Given the description of an element on the screen output the (x, y) to click on. 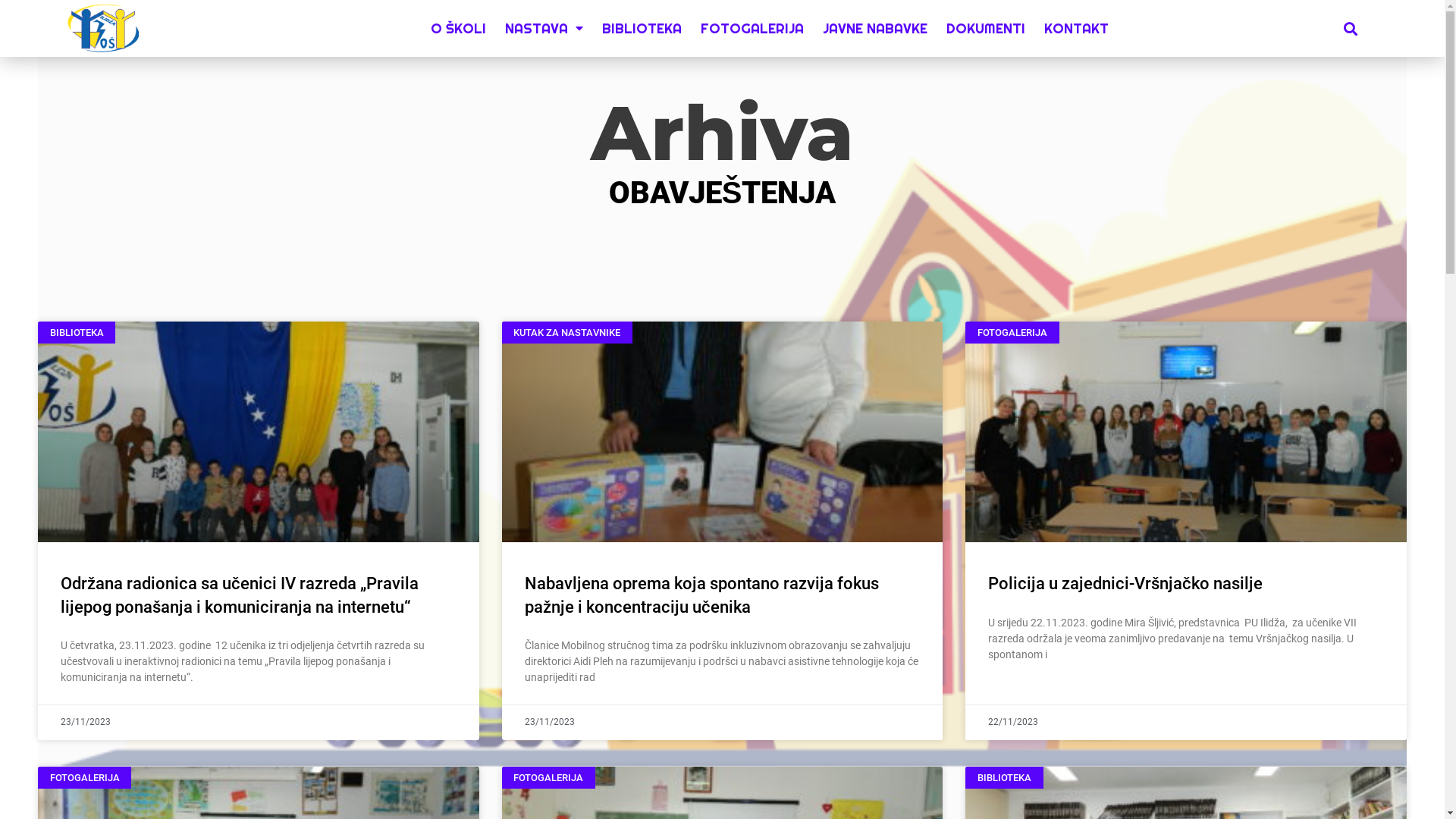
FOTOGALERIJA Element type: text (751, 27)
NASTAVA Element type: text (544, 27)
BIBLIOTEKA Element type: text (641, 27)
DOKUMENTI Element type: text (985, 27)
JAVNE NABAVKE Element type: text (874, 27)
KONTAKT Element type: text (1076, 27)
